Given the description of an element on the screen output the (x, y) to click on. 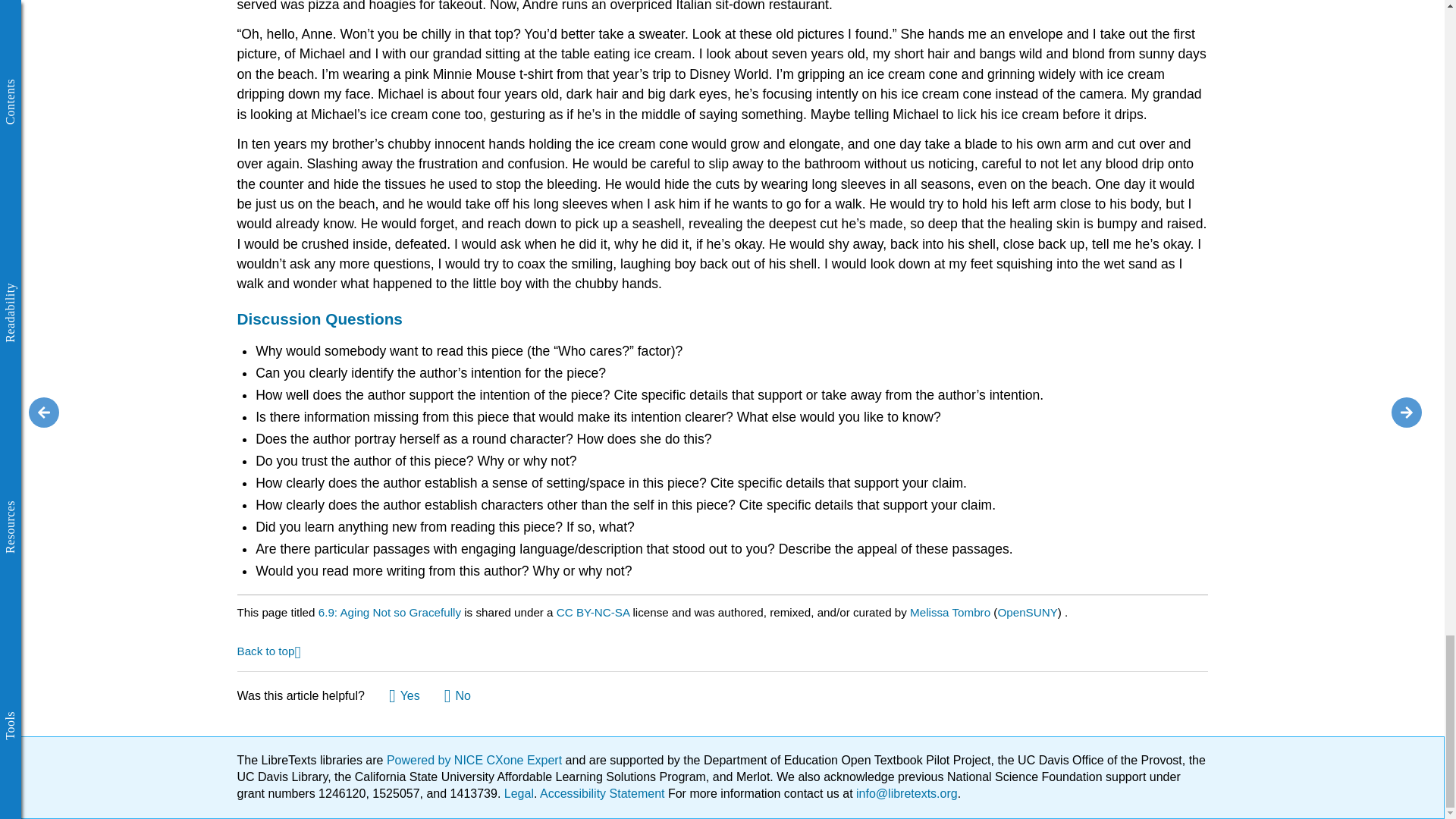
Jump back to top of this article (267, 650)
